Given the description of an element on the screen output the (x, y) to click on. 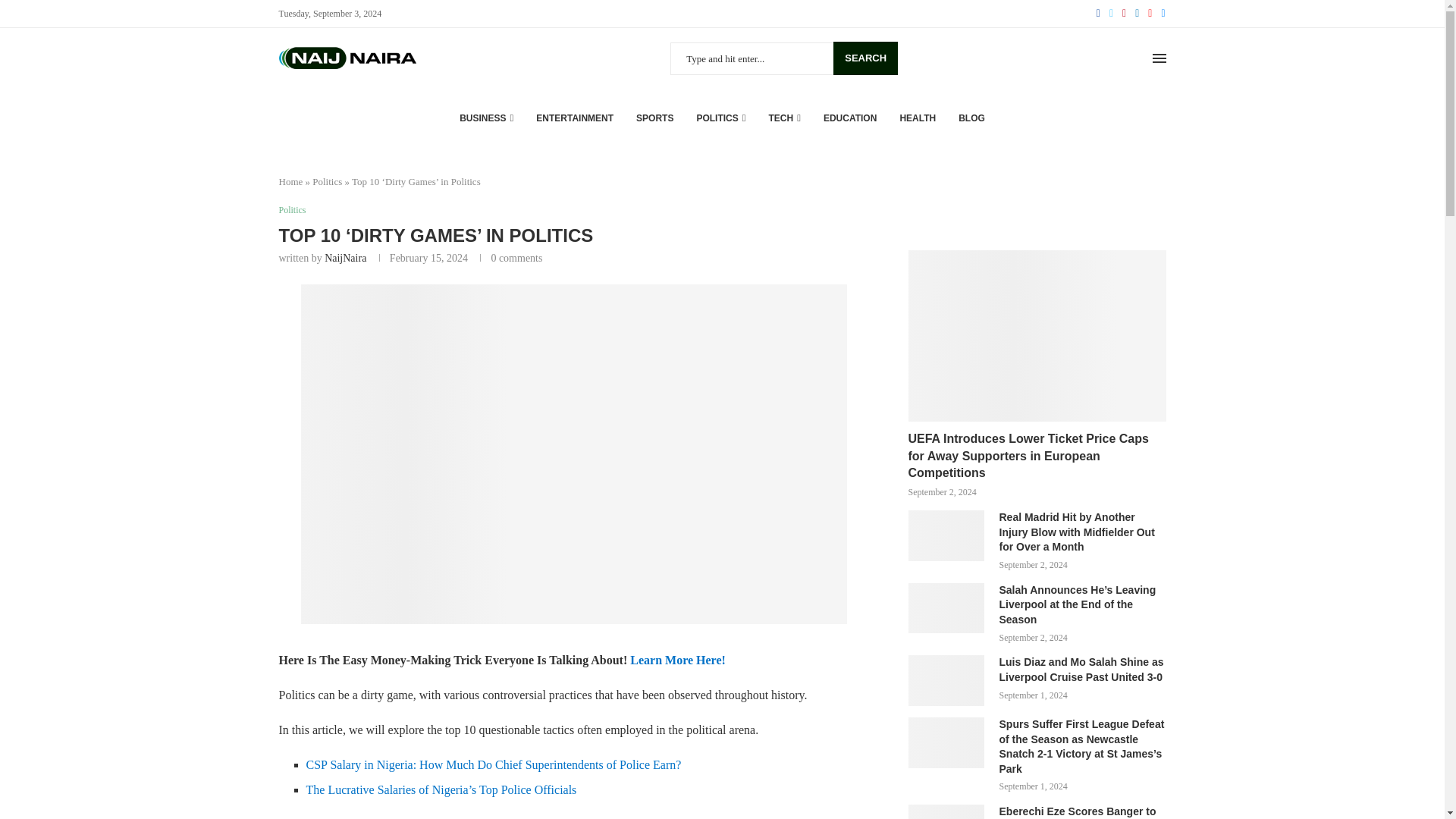
ENTERTAINMENT (573, 118)
BUSINESS (486, 118)
SEARCH (865, 57)
POLITICS (720, 118)
